Given the description of an element on the screen output the (x, y) to click on. 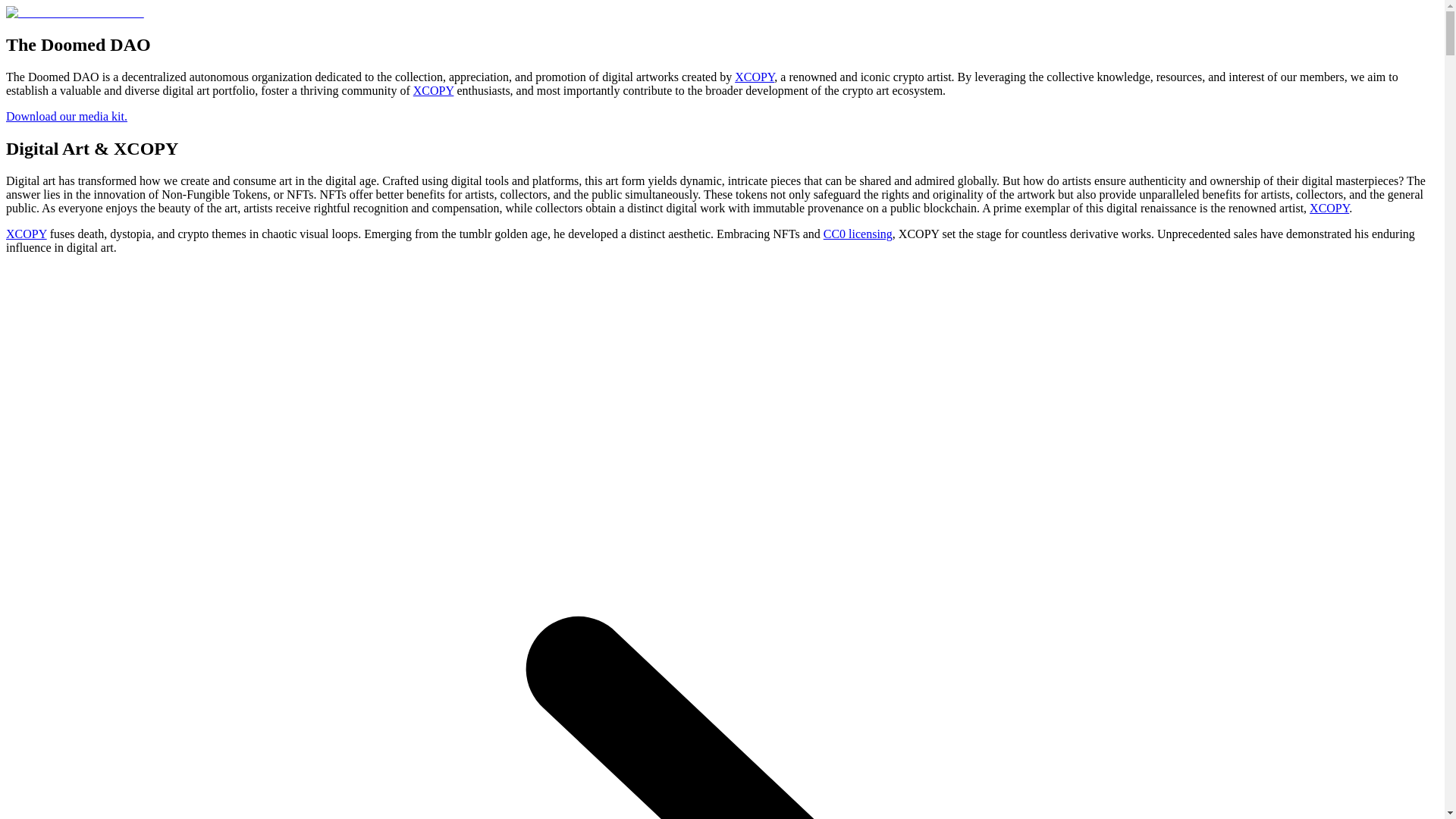
CC0 licensing (858, 233)
XCOPY (433, 90)
XCOPY (1328, 207)
Download our media kit. (66, 115)
XCOPY (754, 76)
XCOPY (25, 233)
